Given the description of an element on the screen output the (x, y) to click on. 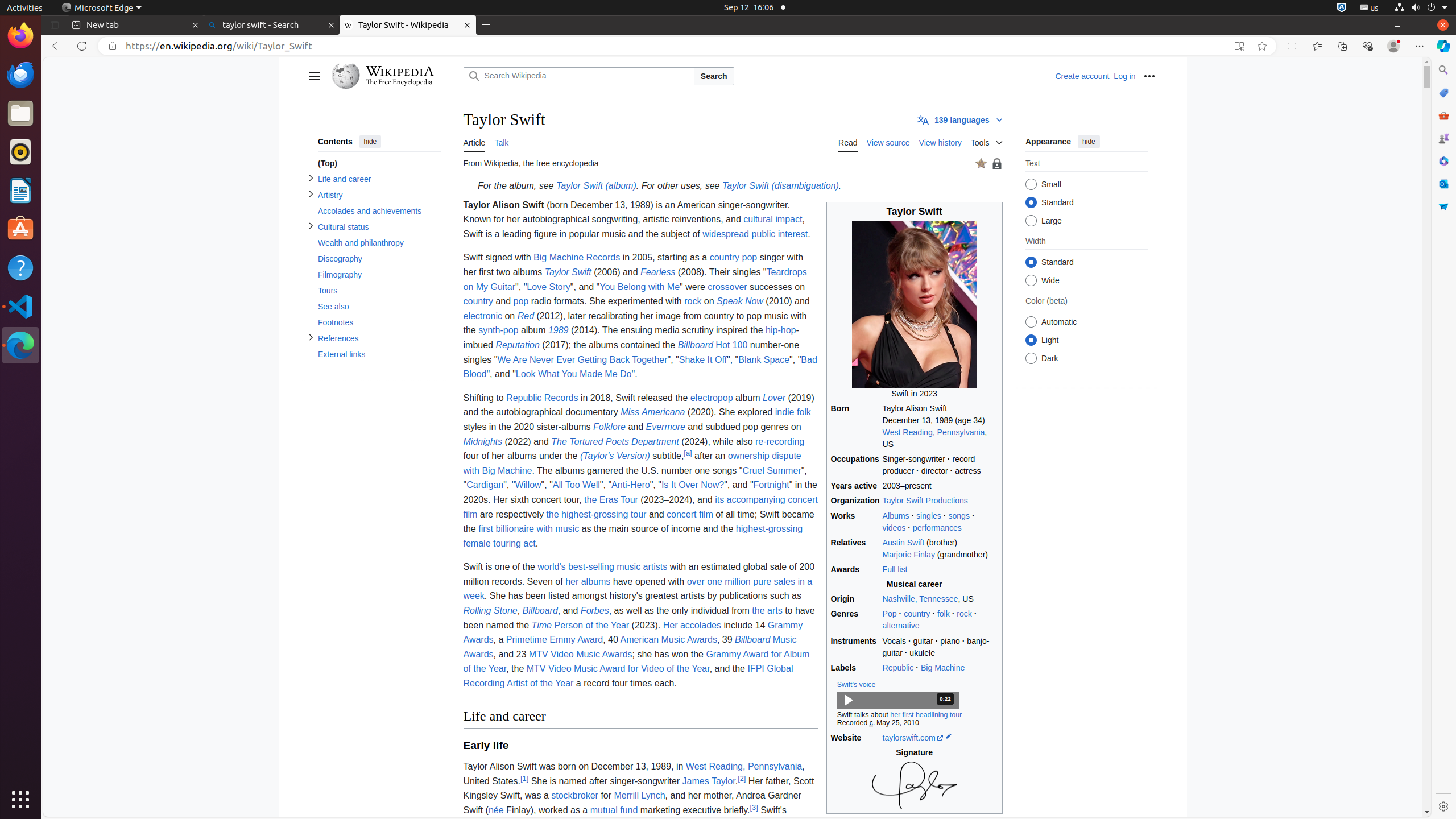
Nashville, Tennessee Element type: link (920, 599)
Toggle Artistry subsection Element type: push-button (310, 193)
MTV Video Music Award for Video of the Year Element type: link (617, 668)
electronic Element type: link (482, 315)
Swift glancing towards her left Swift in 2023 Element type: table-cell (913, 310)
